Given the description of an element on the screen output the (x, y) to click on. 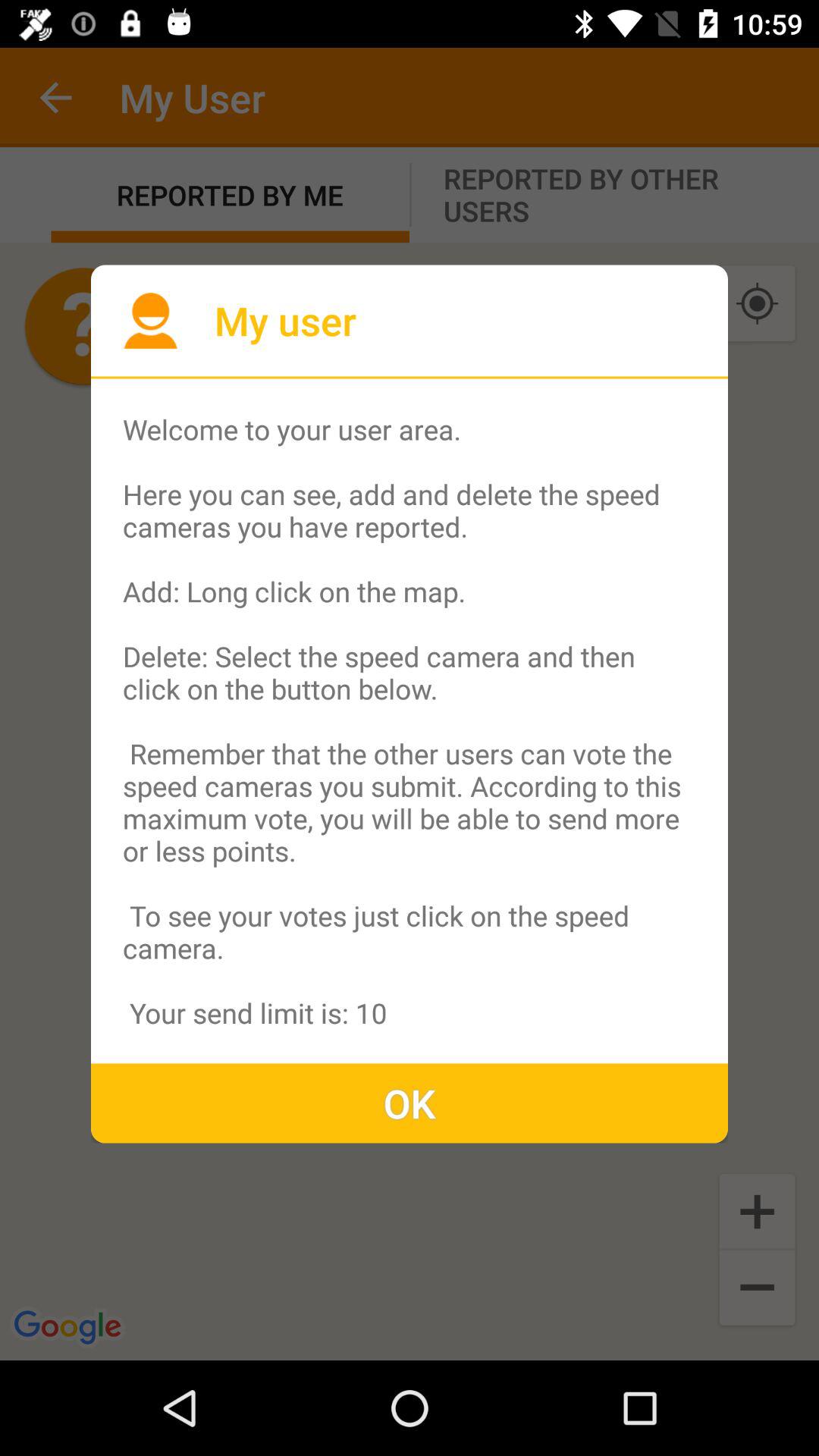
launch the icon at the top left corner (150, 320)
